Given the description of an element on the screen output the (x, y) to click on. 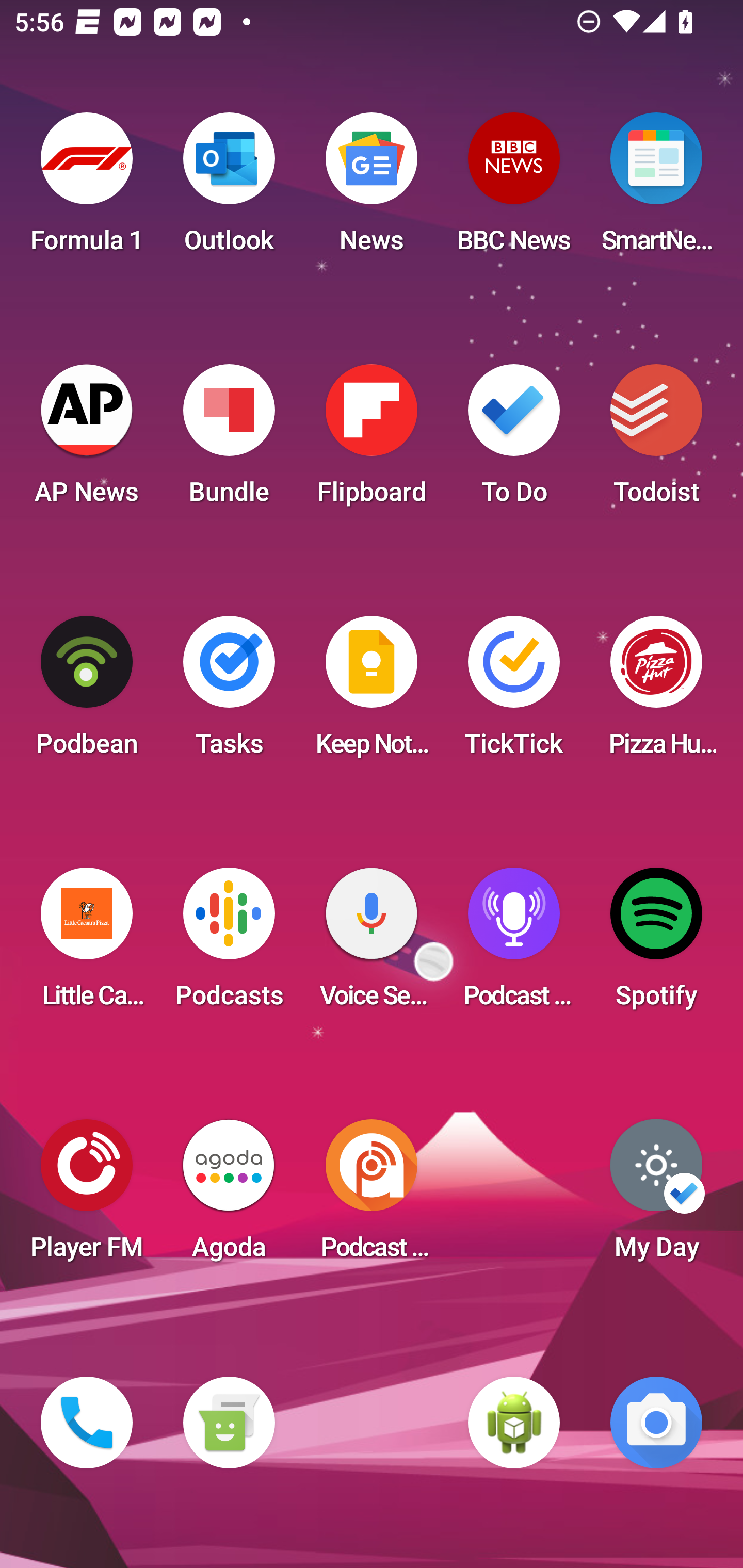
Formula 1 (86, 188)
Outlook (228, 188)
News (371, 188)
BBC News (513, 188)
SmartNews (656, 188)
AP News (86, 440)
Bundle (228, 440)
Flipboard (371, 440)
To Do (513, 440)
Todoist (656, 440)
Podbean (86, 692)
Tasks (228, 692)
Keep Notes (371, 692)
TickTick (513, 692)
Pizza Hut HK & Macau (656, 692)
Little Caesars Pizza (86, 943)
Podcasts (228, 943)
Voice Search (371, 943)
Podcast Player (513, 943)
Spotify (656, 943)
Player FM (86, 1195)
Agoda (228, 1195)
Podcast Addict (371, 1195)
My Day (656, 1195)
Phone (86, 1422)
Messaging (228, 1422)
WebView Browser Tester (513, 1422)
Camera (656, 1422)
